Given the description of an element on the screen output the (x, y) to click on. 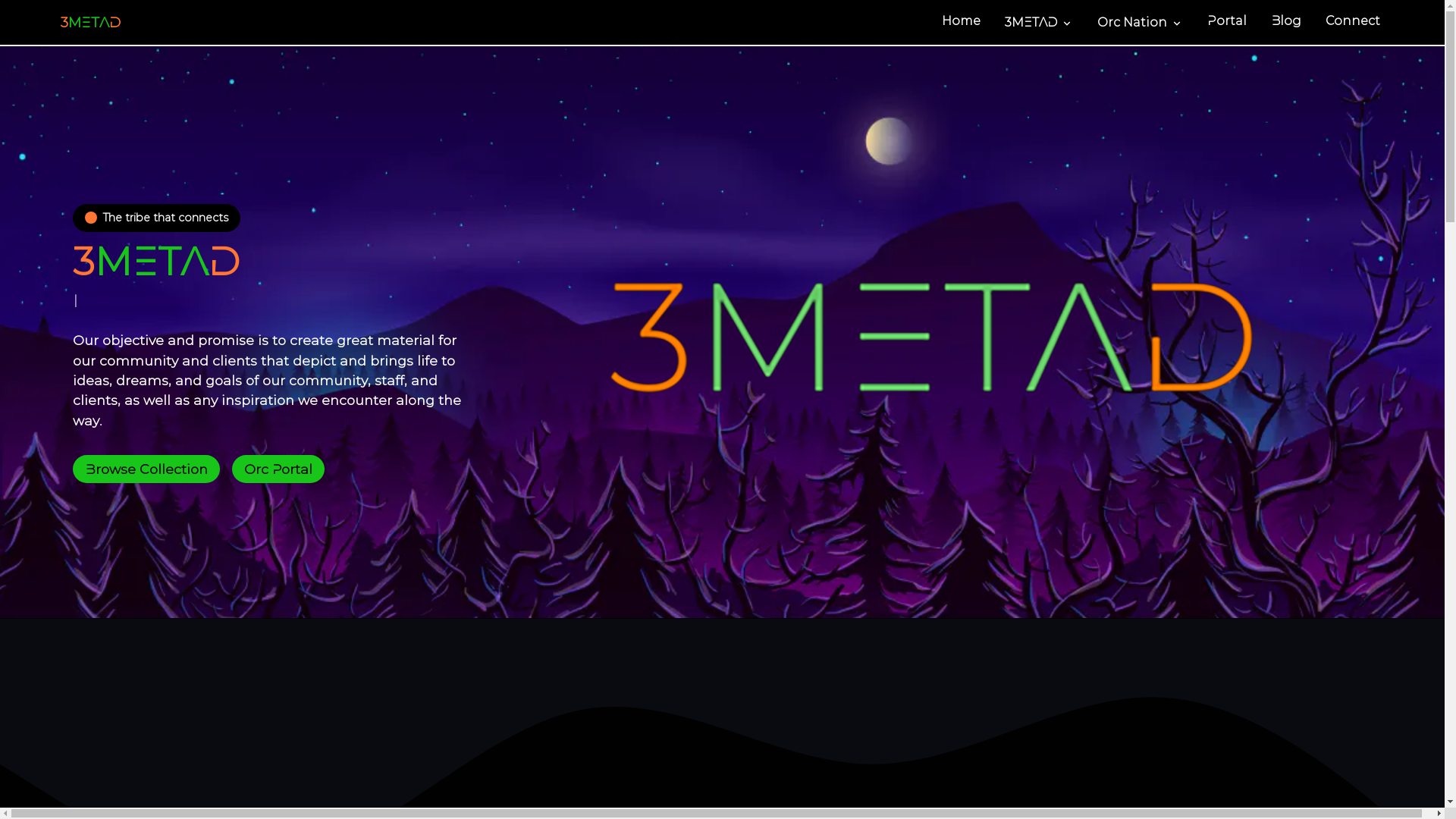
Orc Portal Element type: text (278, 468)
Orc Portal Element type: text (278, 469)
Home Element type: text (960, 22)
Browse Collection Element type: text (145, 469)
Orc Nation Element type: text (1140, 22)
Portal Element type: text (1226, 22)
Blog Element type: text (1285, 22)
Connect Element type: text (1352, 22)
Browse Collection Element type: text (145, 468)
3METAD Element type: text (1038, 22)
